Given the description of an element on the screen output the (x, y) to click on. 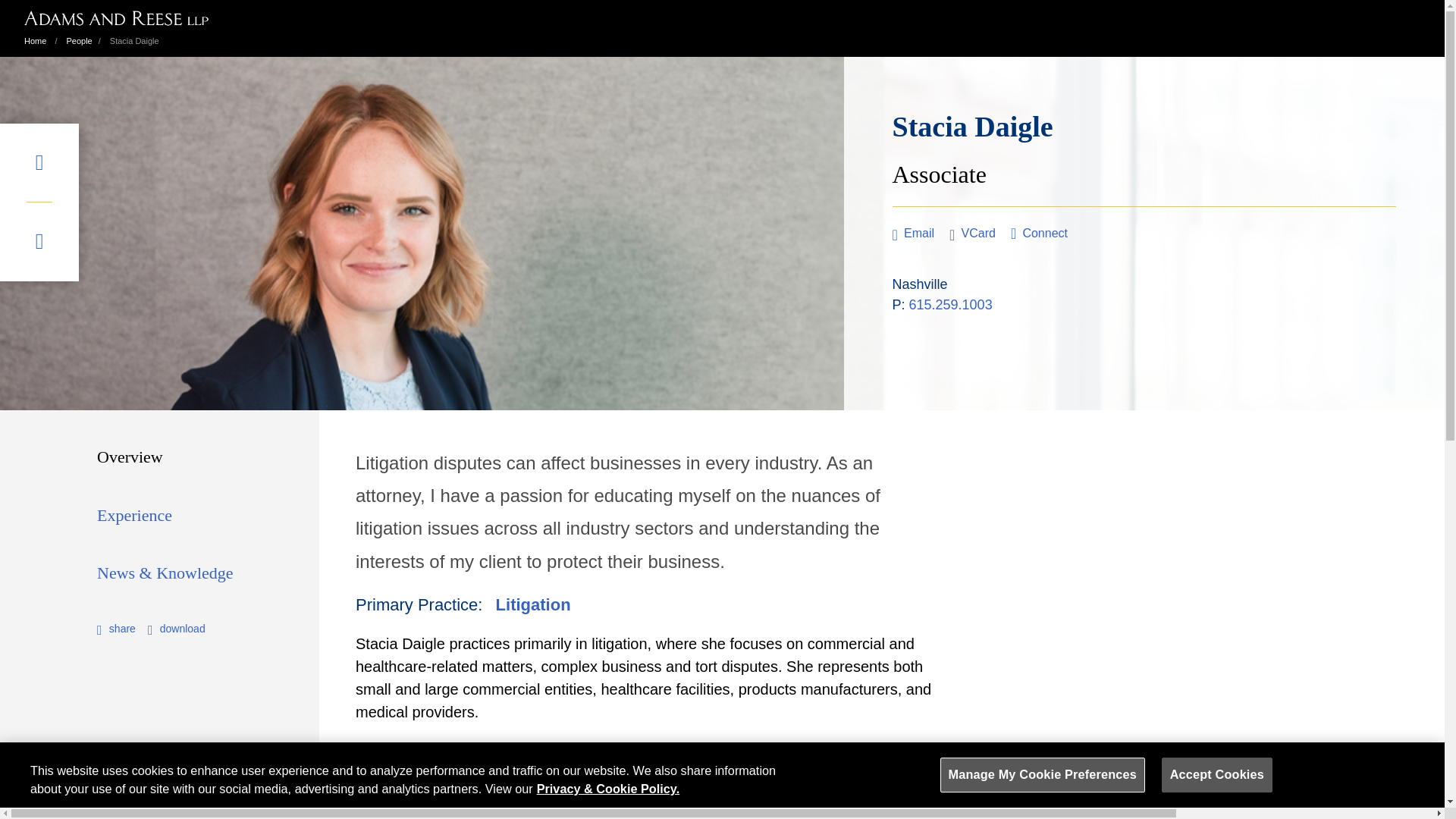
Home (35, 40)
Overview (130, 457)
download (176, 628)
search (39, 240)
Nashville (919, 283)
People (78, 40)
Email (912, 232)
Connect (1038, 232)
stacia-daigle.pdf (176, 628)
Litigation (533, 605)
Experience (134, 516)
VCard (972, 232)
615.259.1003 (950, 304)
menu (39, 161)
